Given the description of an element on the screen output the (x, y) to click on. 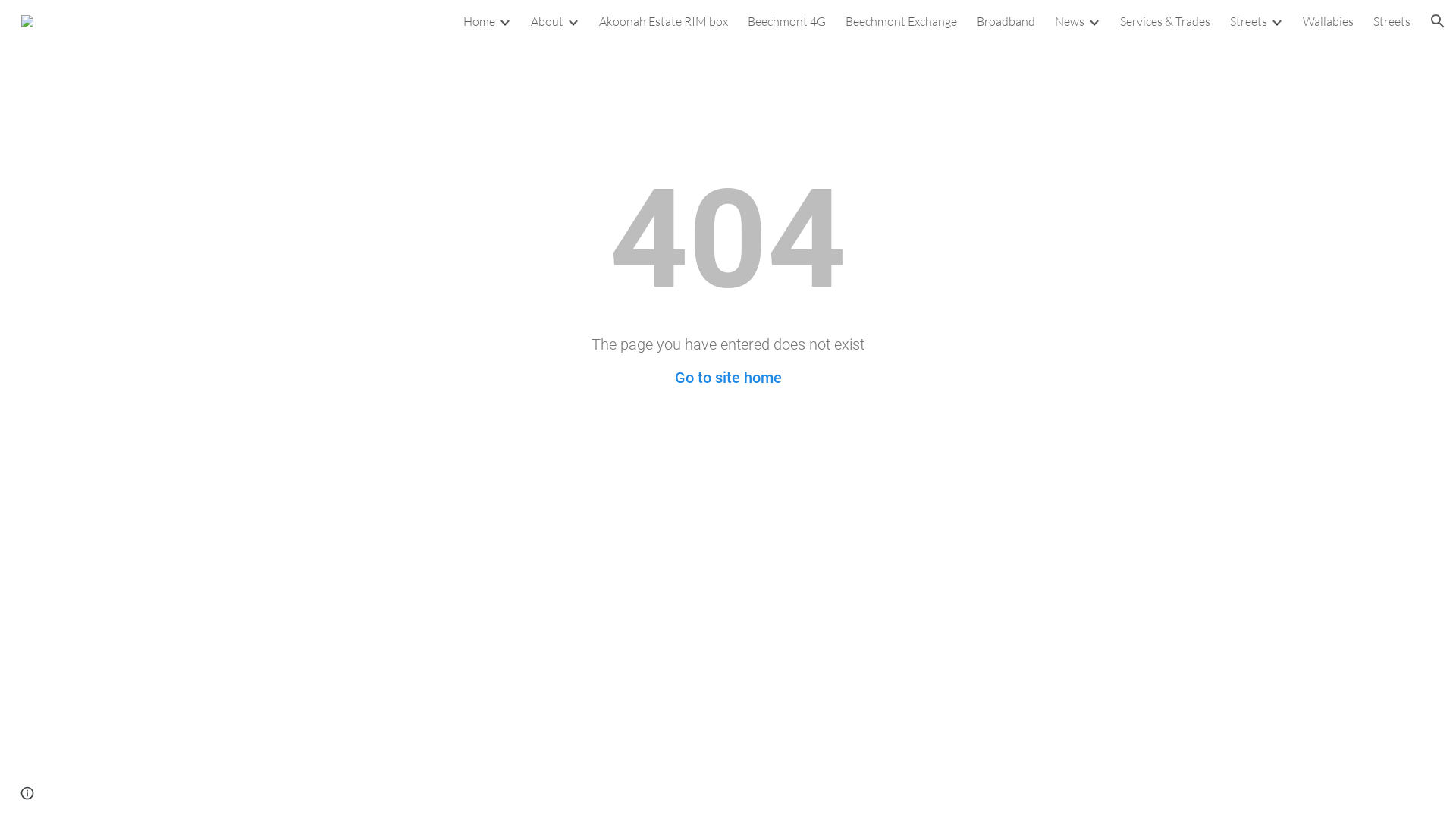
Streets Element type: text (1391, 20)
Go to site home Element type: text (727, 377)
Home Element type: text (479, 20)
Services & Trades Element type: text (1165, 20)
Expand/Collapse Element type: hover (572, 20)
Streets Element type: text (1248, 20)
Expand/Collapse Element type: hover (504, 20)
Broadband Element type: text (1005, 20)
Beechmont Exchange Element type: text (901, 20)
Expand/Collapse Element type: hover (1276, 20)
Expand/Collapse Element type: hover (1093, 20)
Beechmont 4G Element type: text (786, 20)
Wallabies Element type: text (1327, 20)
Akoonah Estate RIM box Element type: text (663, 20)
About Element type: text (546, 20)
News Element type: text (1069, 20)
